Given the description of an element on the screen output the (x, y) to click on. 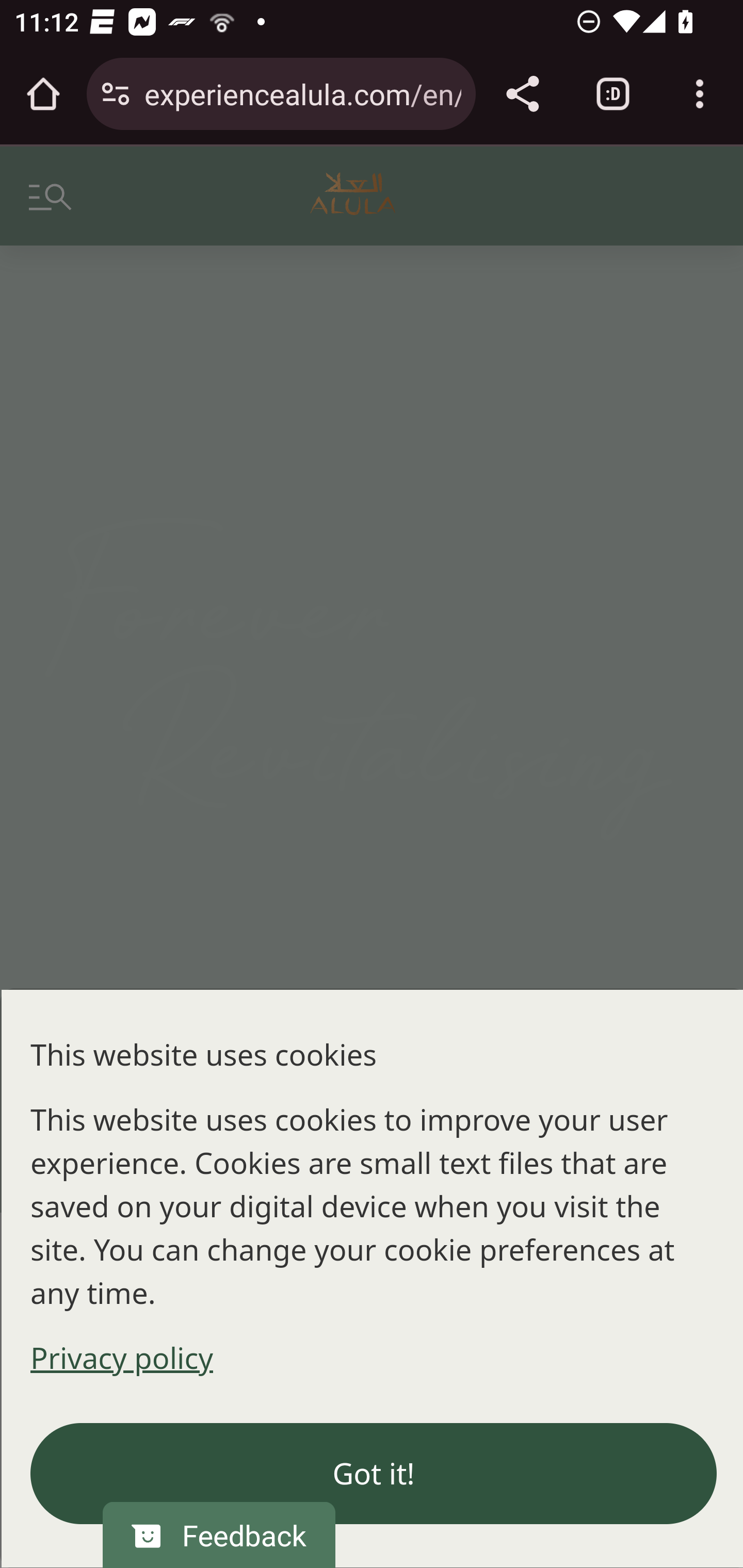
Open the home page (43, 93)
Connection is secure (115, 93)
Share (522, 93)
Switch or close tabs (612, 93)
Customize and control Google Chrome (699, 93)
experiencealula.com/en/forever-revitalising (302, 92)
